Given the description of an element on the screen output the (x, y) to click on. 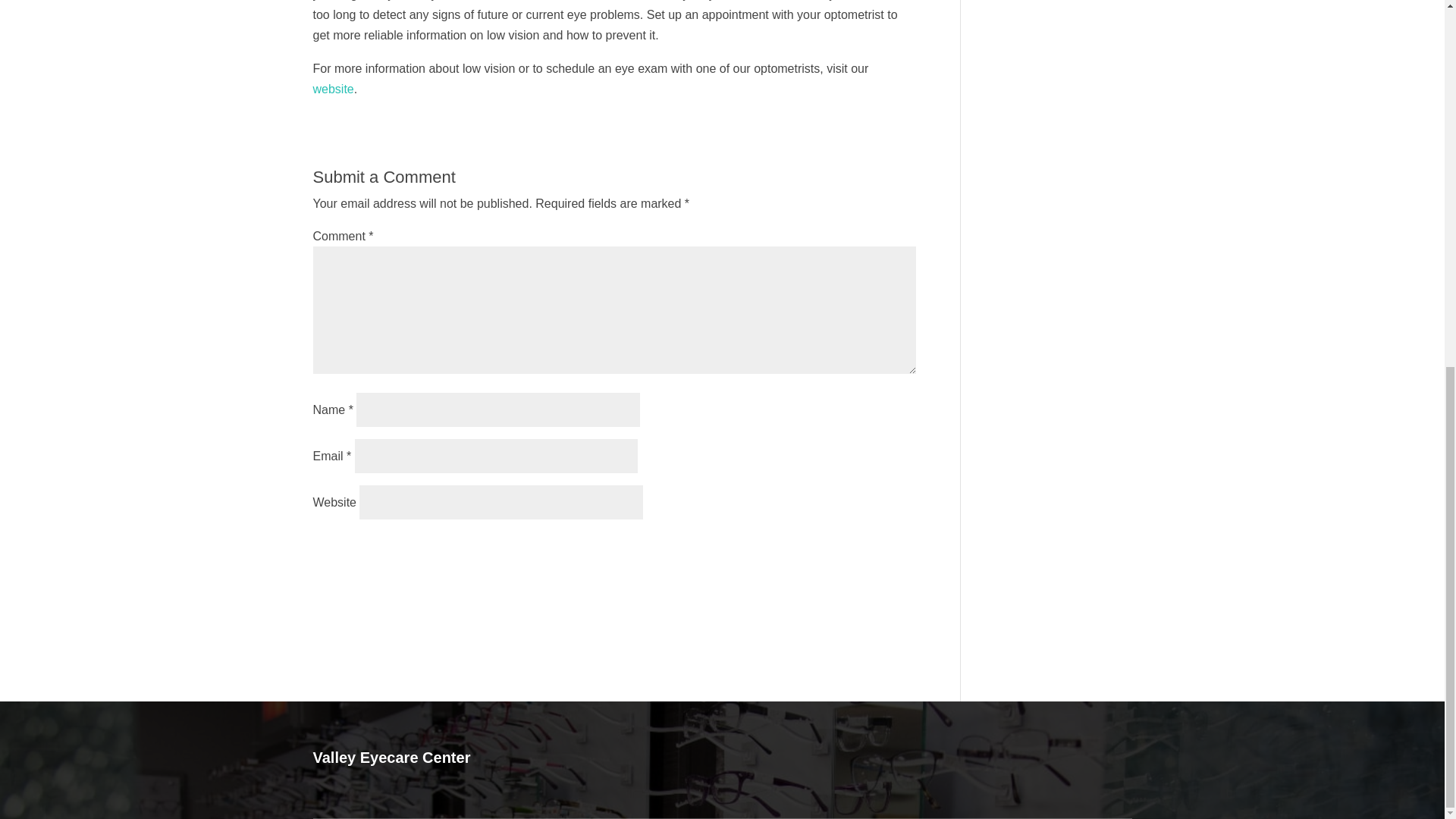
website (333, 88)
Submit Comment (840, 550)
Submit Comment (840, 550)
